Given the description of an element on the screen output the (x, y) to click on. 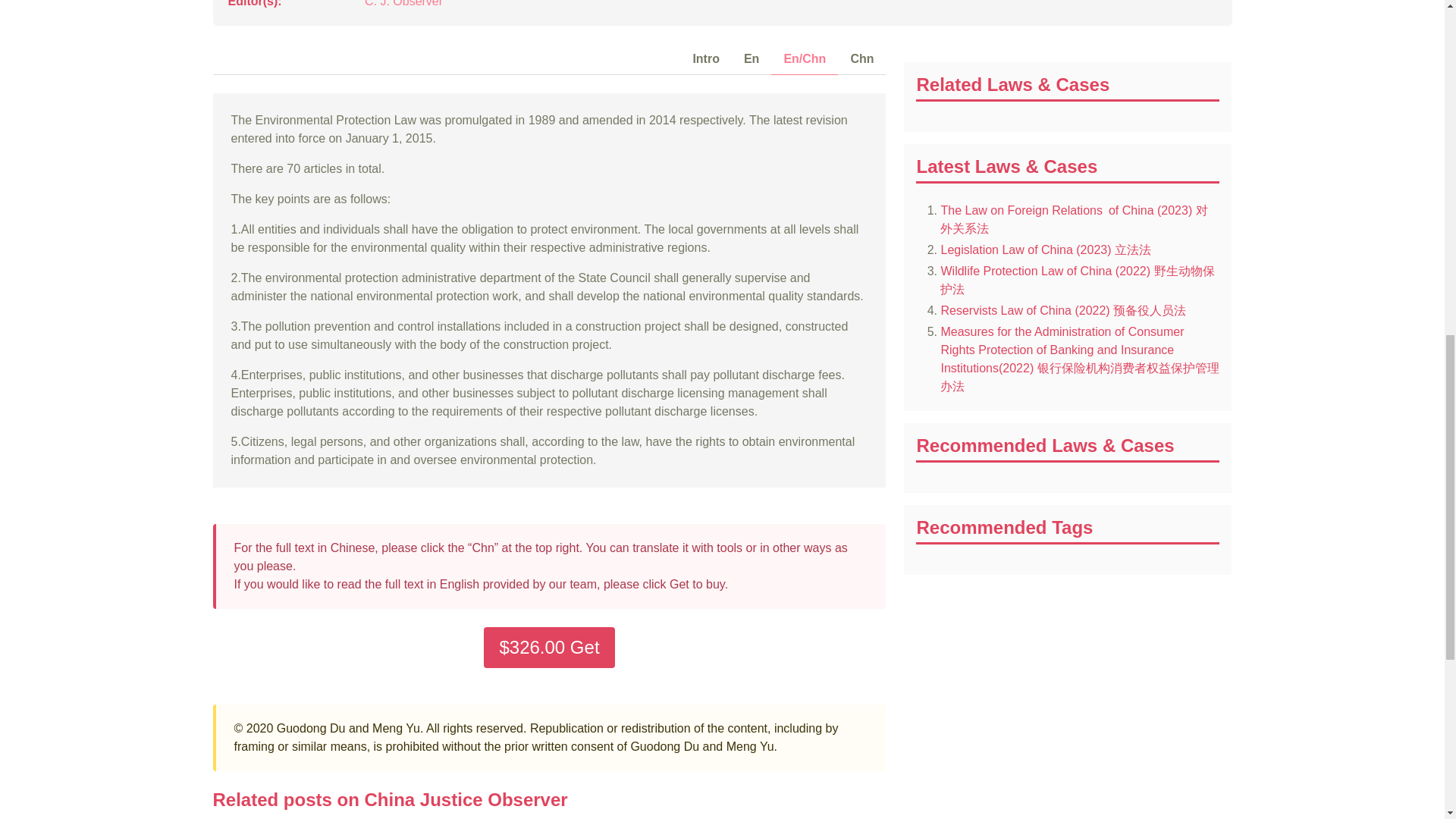
En (751, 59)
Intro (705, 59)
C. J. Observer (403, 3)
